Given the description of an element on the screen output the (x, y) to click on. 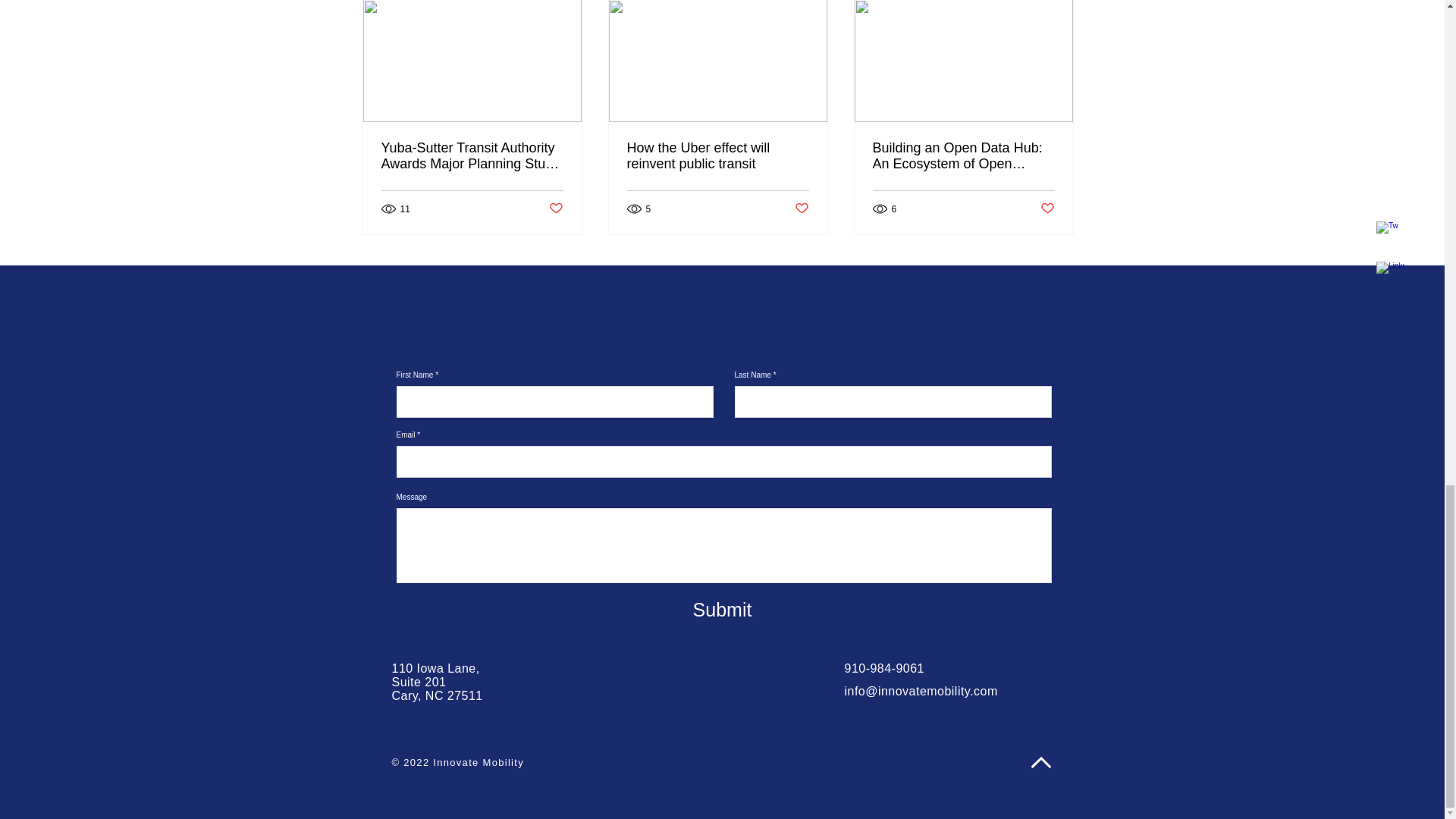
Submit (722, 610)
Post not marked as liked (801, 208)
Post not marked as liked (555, 208)
Post not marked as liked (1047, 208)
How the Uber effect will reinvent public transit (717, 155)
Building an Open Data Hub: An Ecosystem of Open Information (963, 155)
